Given the description of an element on the screen output the (x, y) to click on. 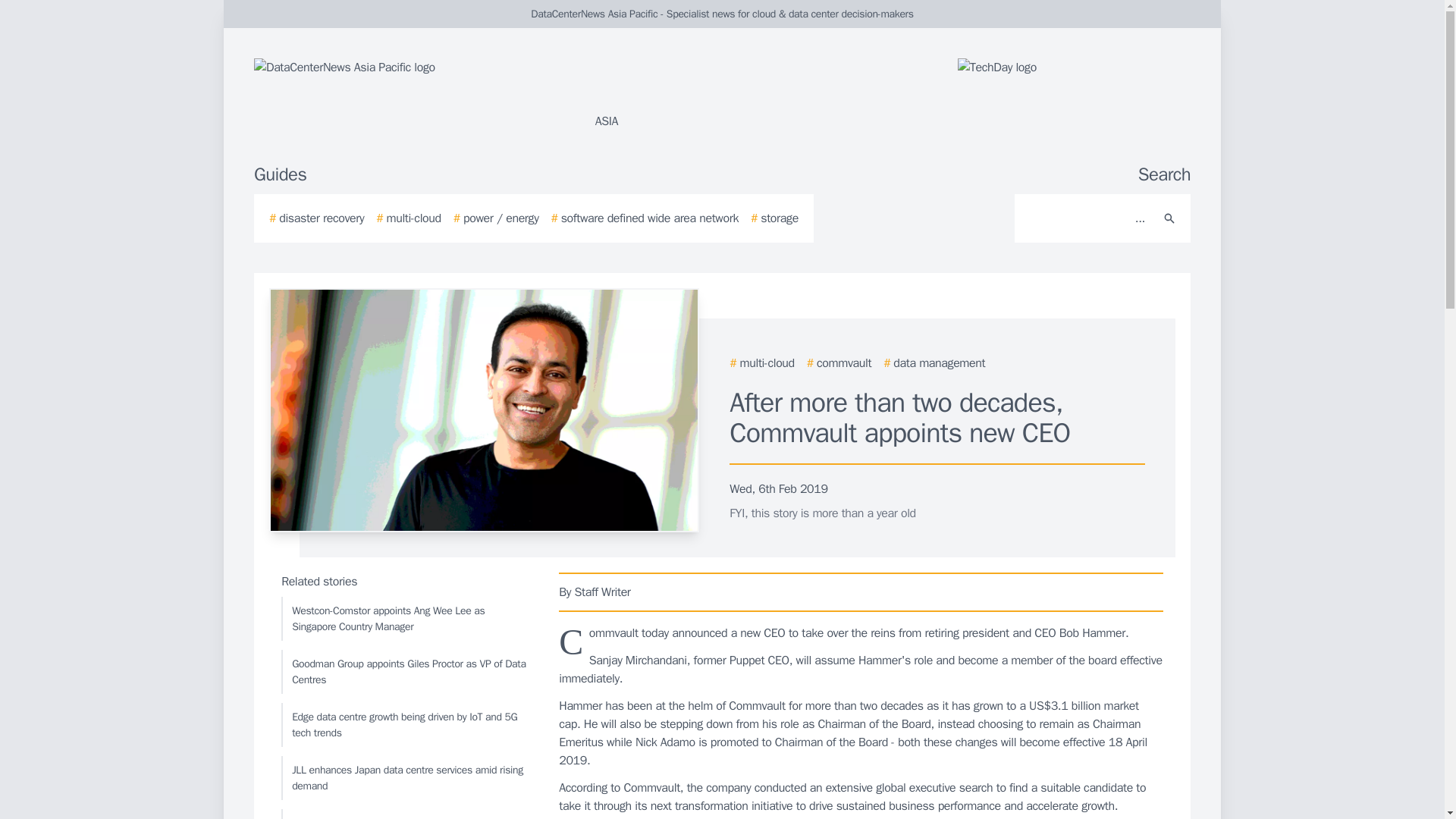
JLL enhances Japan data centre services amid rising demand (406, 777)
ASIA (435, 94)
By Staff Writer (861, 592)
Goodman Group appoints Giles Proctor as VP of Data Centres (406, 671)
Hitachi Vantara unveils hybrid cloud solutions with AMD EPYC (406, 814)
